Given the description of an element on the screen output the (x, y) to click on. 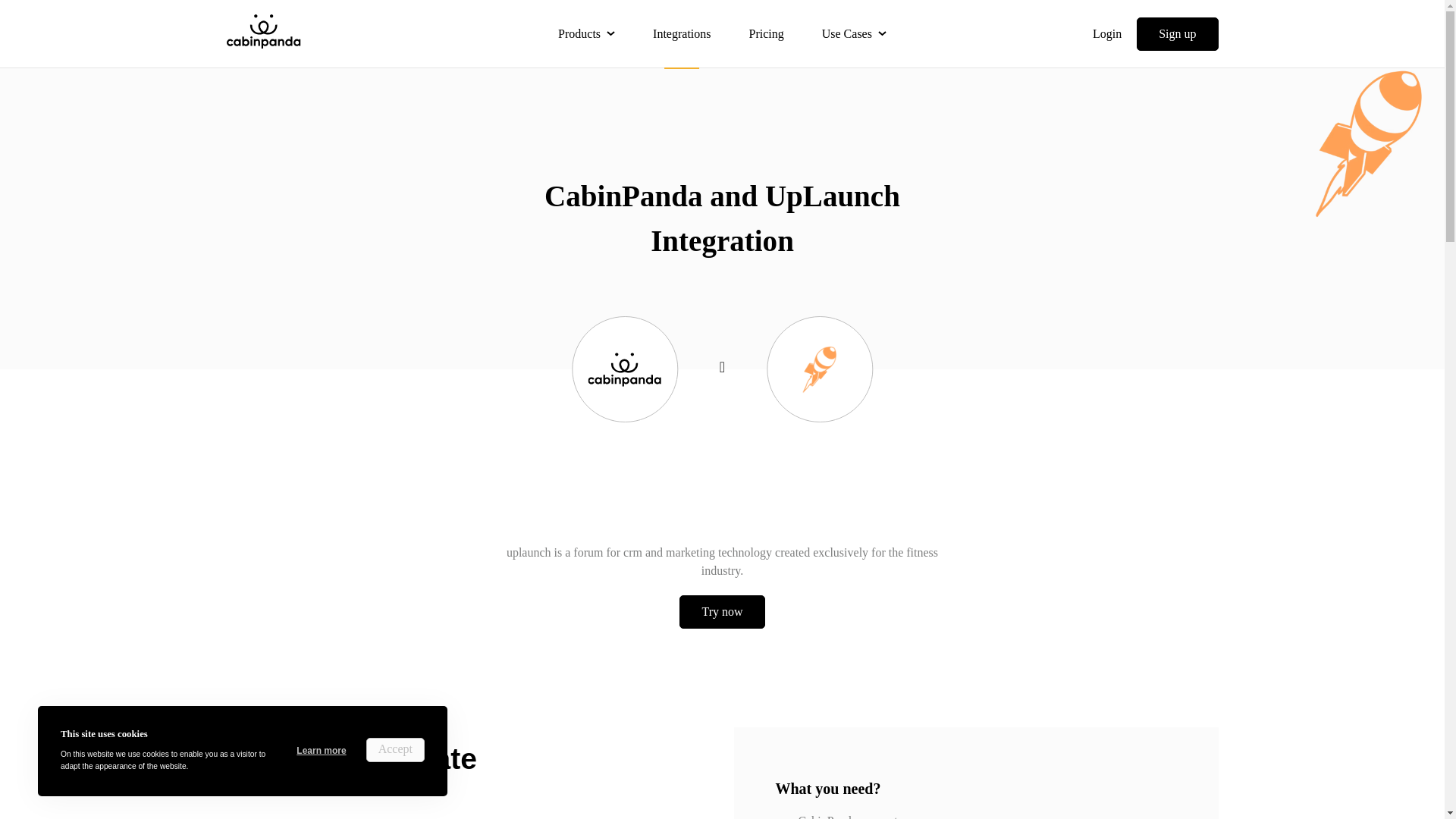
Sign up (1177, 32)
CabinPanda (262, 33)
Learn more (321, 750)
CabinPanda (262, 30)
Try now (721, 611)
Accept (395, 749)
Login (1107, 33)
